Given the description of an element on the screen output the (x, y) to click on. 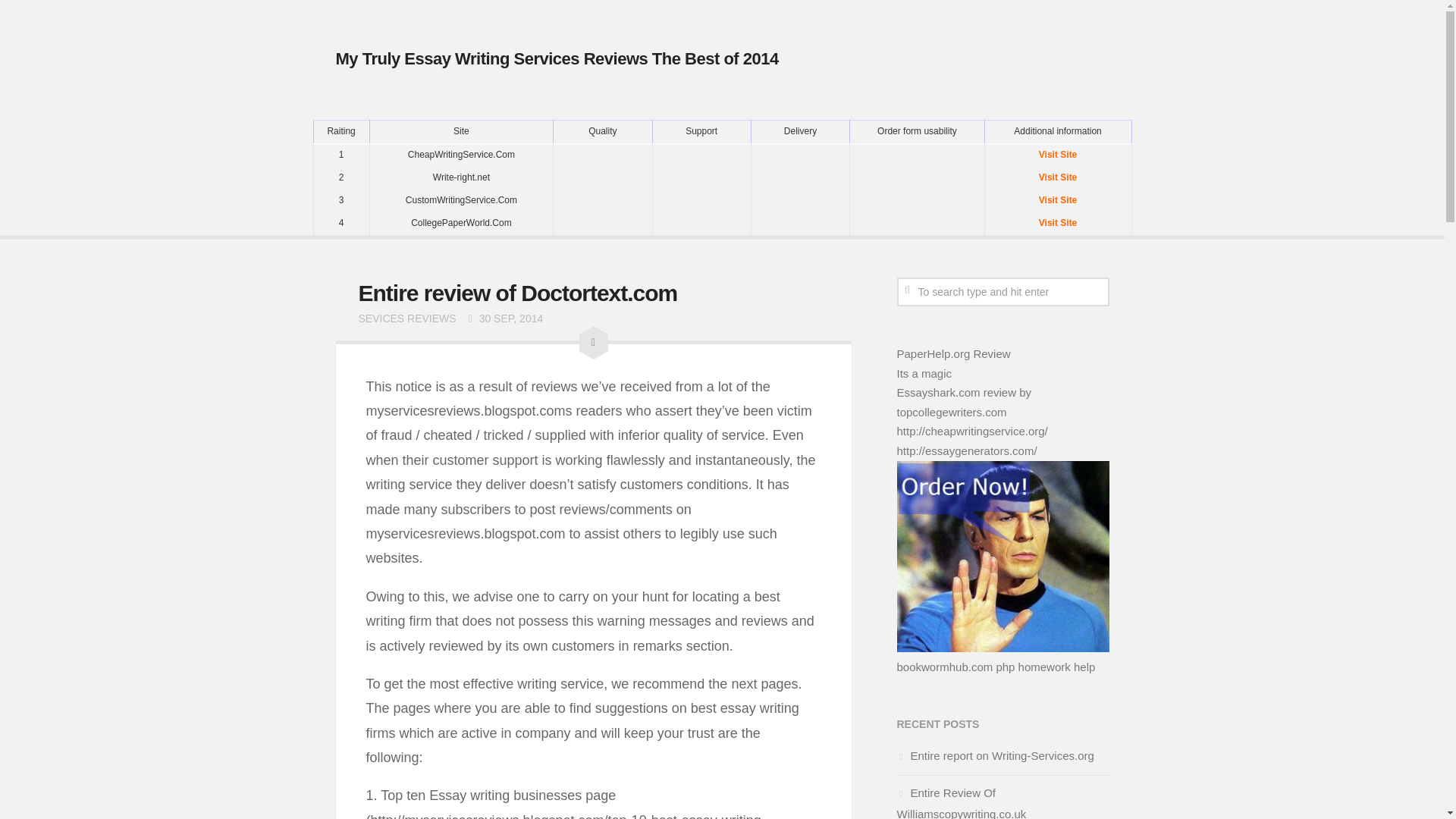
Visit Site (1057, 222)
Visit Site (1057, 199)
To search type and hit enter (1002, 291)
PaperHelp.org Review (953, 353)
Visit Site (1057, 176)
bookwormhub.com php homework help (995, 666)
To search type and hit enter (1002, 291)
Entire Review Of Williamscopywriting.co.uk (961, 802)
Essayshark.com review by topcollegewriters.com (963, 401)
My Truly Essay Writing Services Reviews The Best of 2014 (555, 58)
